Given the description of an element on the screen output the (x, y) to click on. 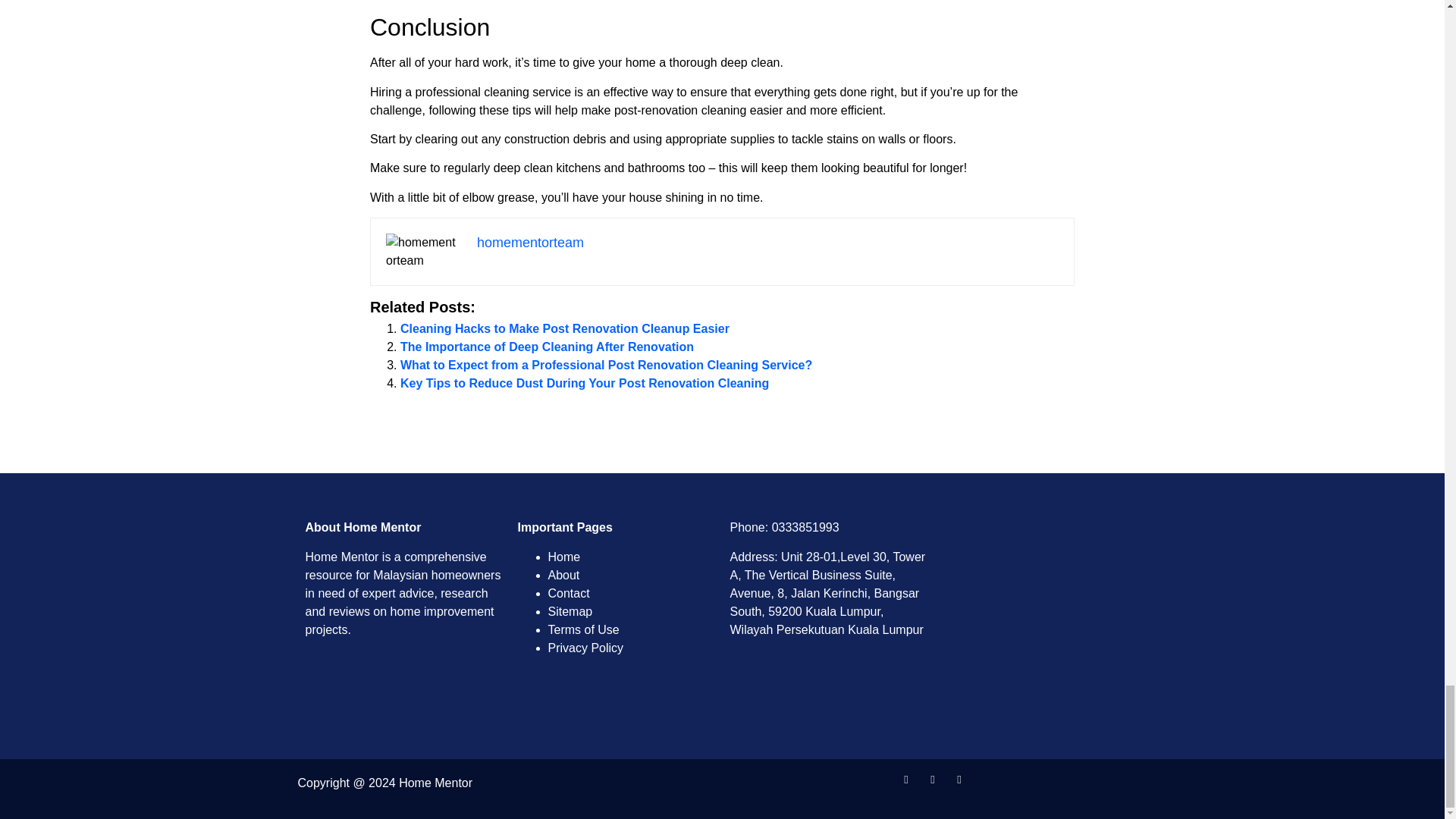
The Importance of Deep Cleaning After Renovation (547, 346)
Key Tips to Reduce Dust During Your Post Renovation Cleaning (584, 382)
Cleaning Hacks to Make Post Renovation Cleanup Easier (564, 328)
